Given the description of an element on the screen output the (x, y) to click on. 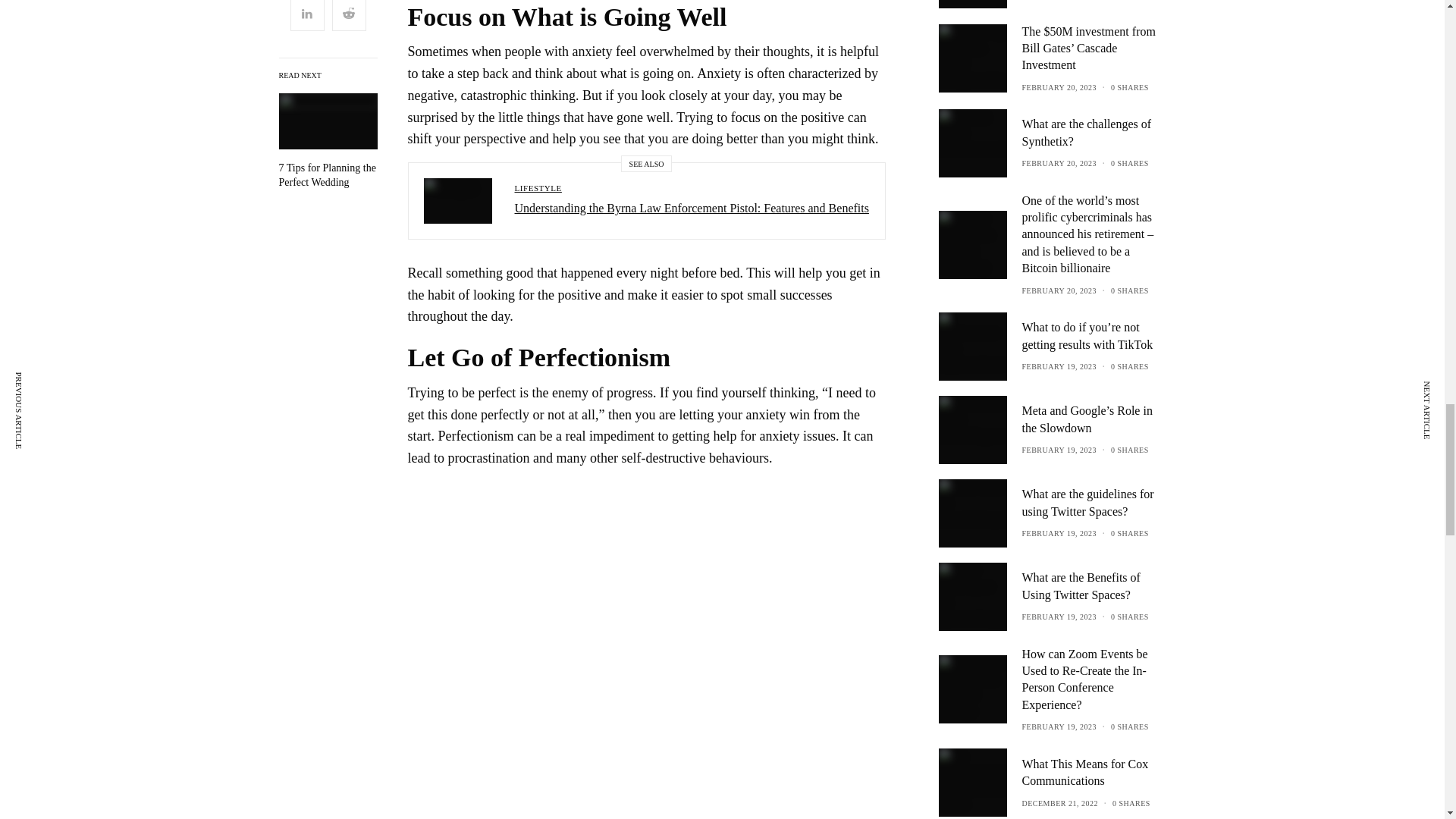
What are the Benefits of Using Twitter Spaces? (1094, 586)
Anxiety Issues? 6 Ways to Get Help (328, 175)
What are the guidelines for using Twitter Spaces? (1094, 503)
What are the challenges of Synthetix? (1094, 132)
What This Means for Cox Communications (1094, 772)
